Given the description of an element on the screen output the (x, y) to click on. 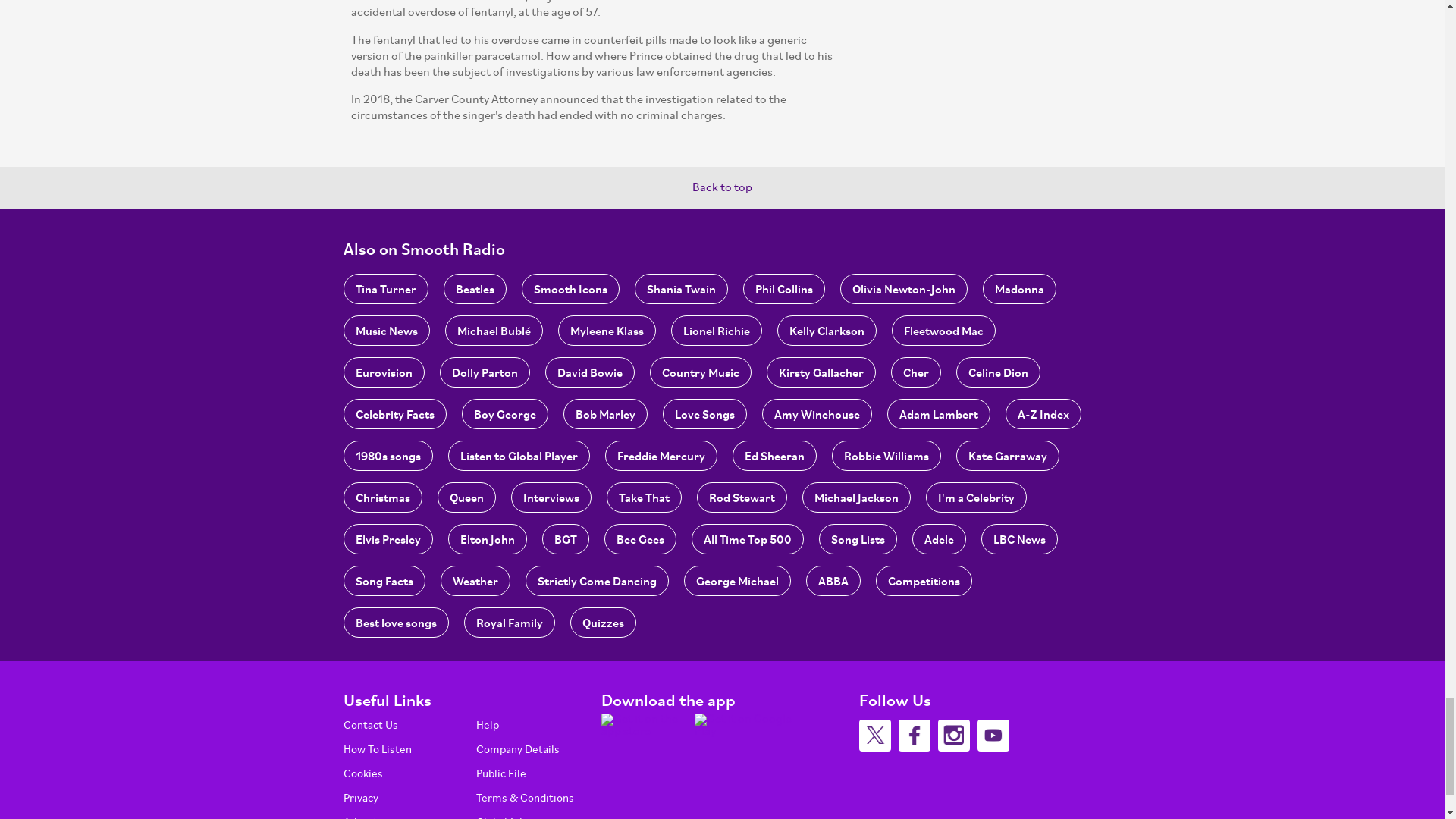
Back to top (722, 187)
Follow Smooth on Facebook (914, 735)
Follow Smooth on X (874, 735)
Follow Smooth on Instagram (953, 735)
Follow Smooth on Youtube (992, 735)
